Given the description of an element on the screen output the (x, y) to click on. 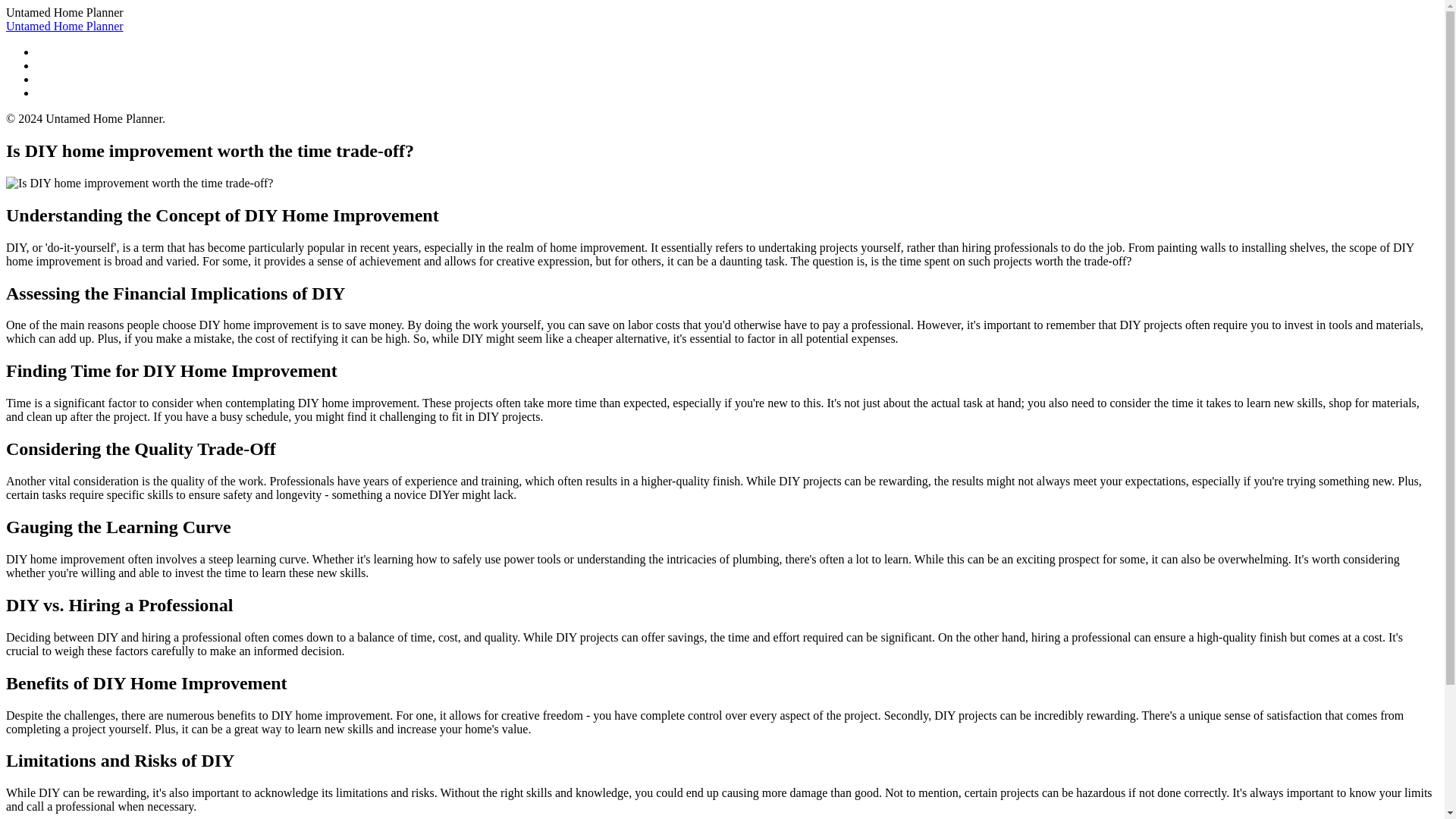
Untamed Home Planner (64, 25)
